Given the description of an element on the screen output the (x, y) to click on. 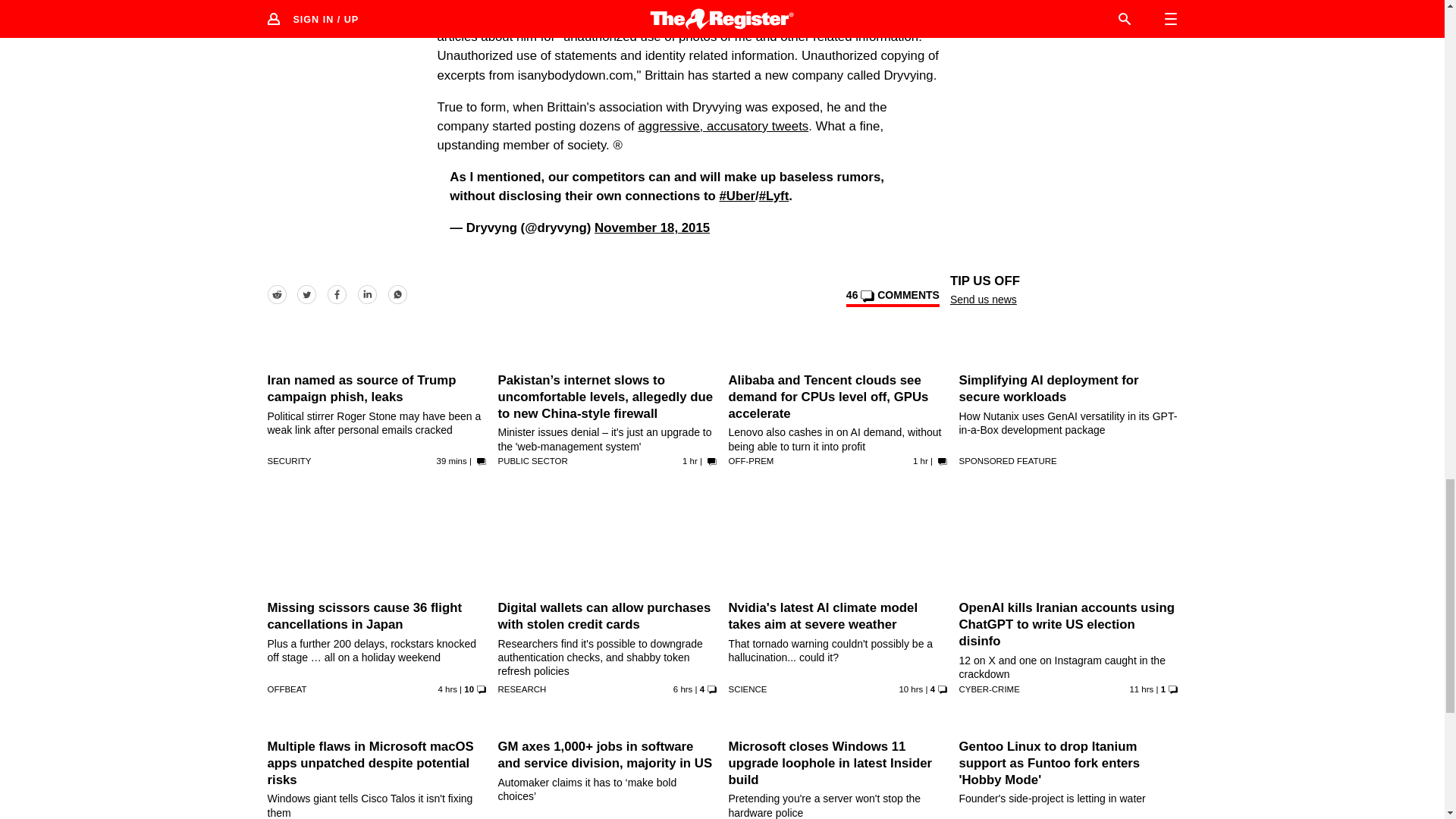
20 Aug 2024 5:25 (920, 461)
19 Aug 2024 20:10 (1141, 688)
19 Aug 2024 21:10 (910, 688)
20 Aug 2024 6:29 (451, 461)
20 Aug 2024 1:29 (682, 688)
View comments on this article (892, 298)
20 Aug 2024 5:57 (689, 461)
20 Aug 2024 2:45 (447, 688)
